Given the description of an element on the screen output the (x, y) to click on. 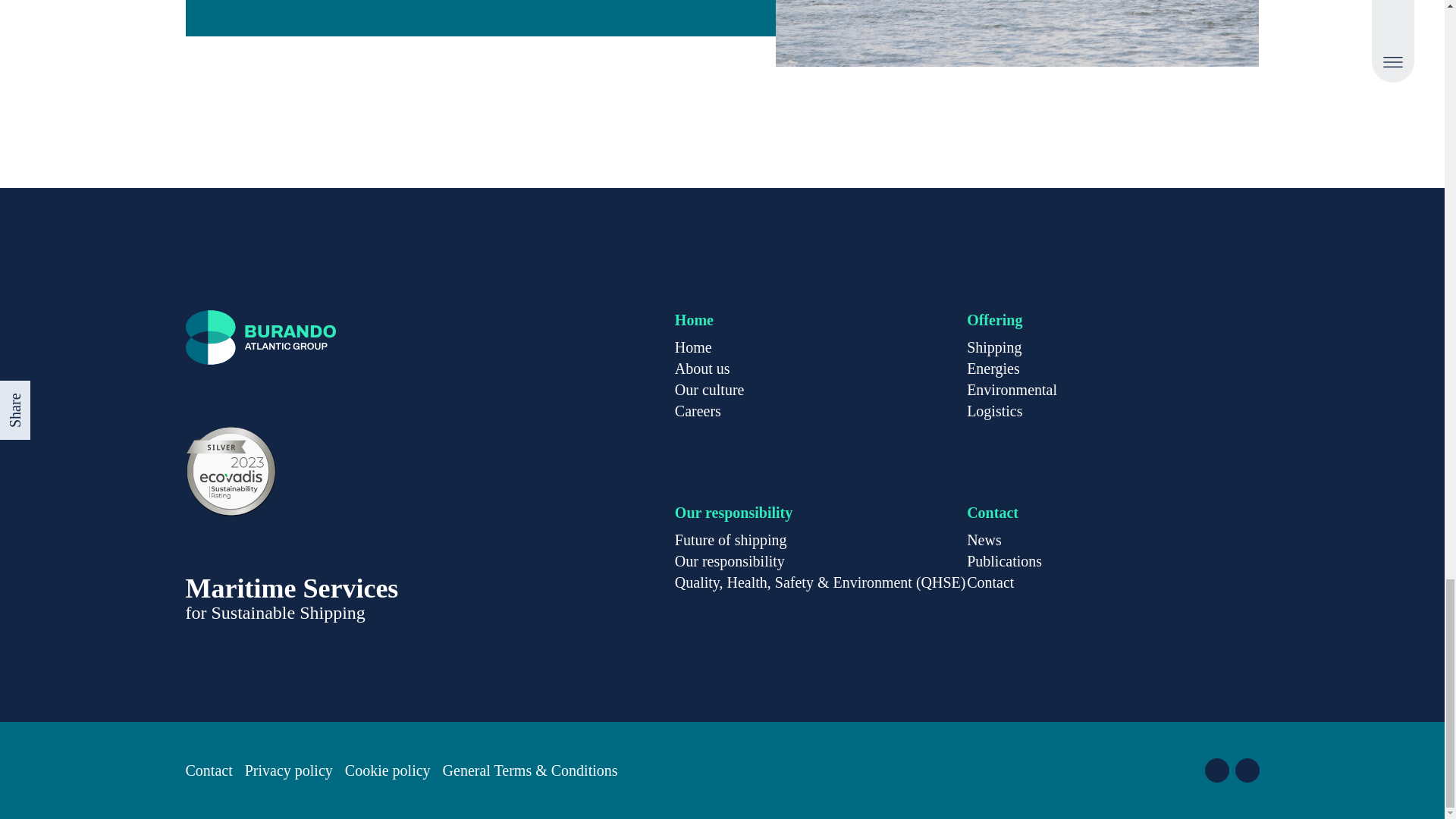
Home (693, 347)
